Given the description of an element on the screen output the (x, y) to click on. 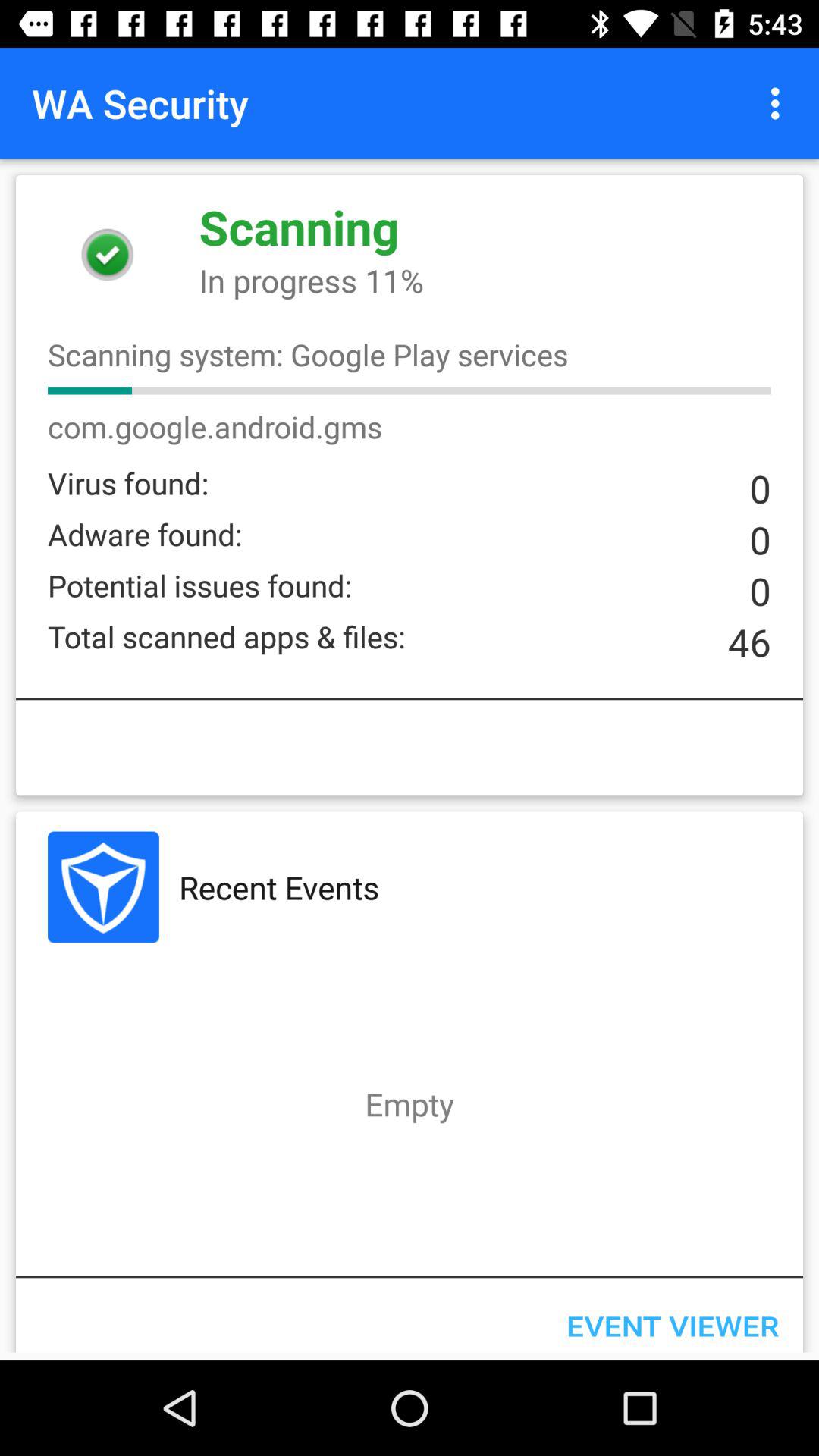
select event viewer (672, 1318)
